Given the description of an element on the screen output the (x, y) to click on. 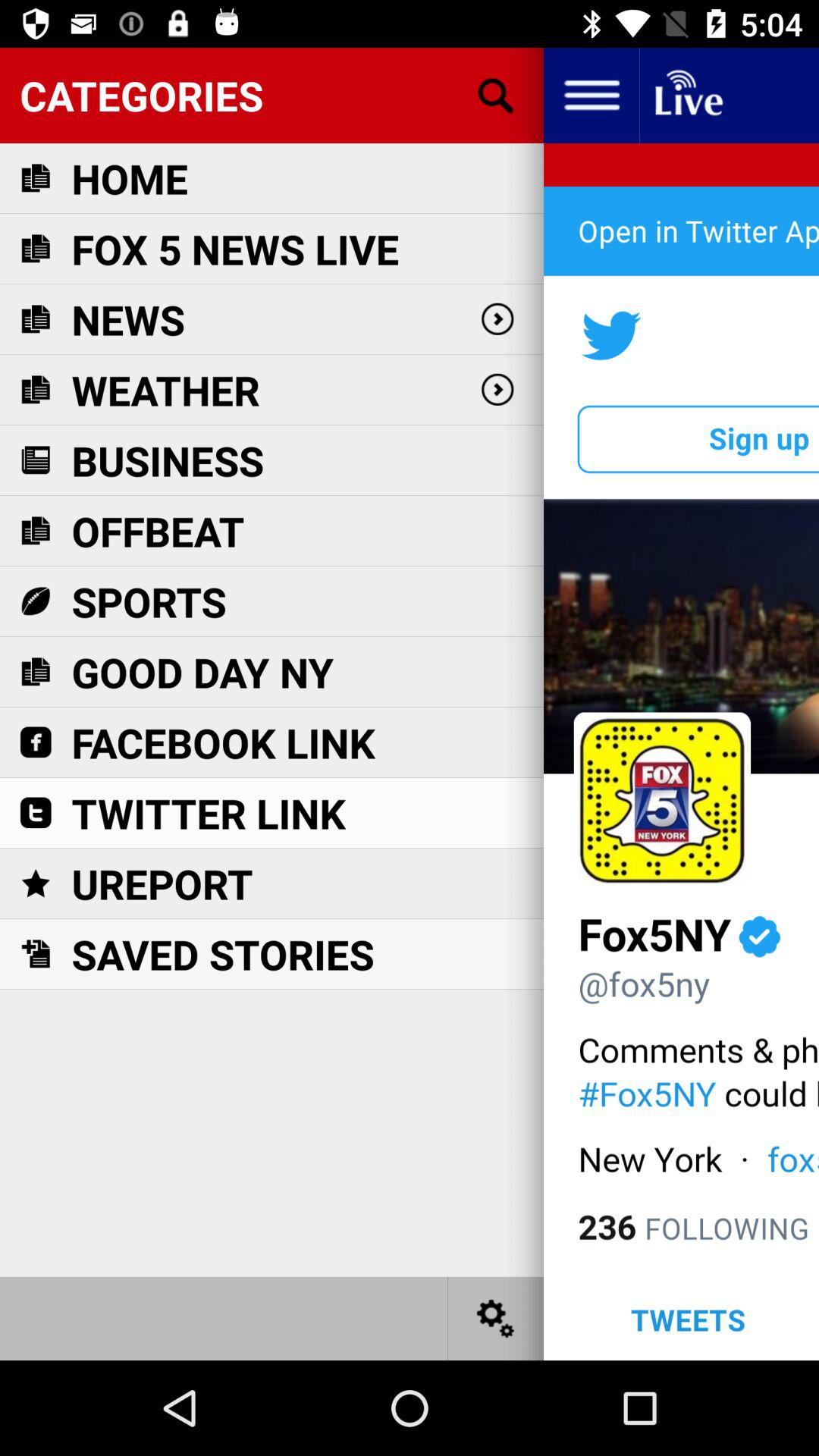
swipe to ureport item (162, 883)
